Given the description of an element on the screen output the (x, y) to click on. 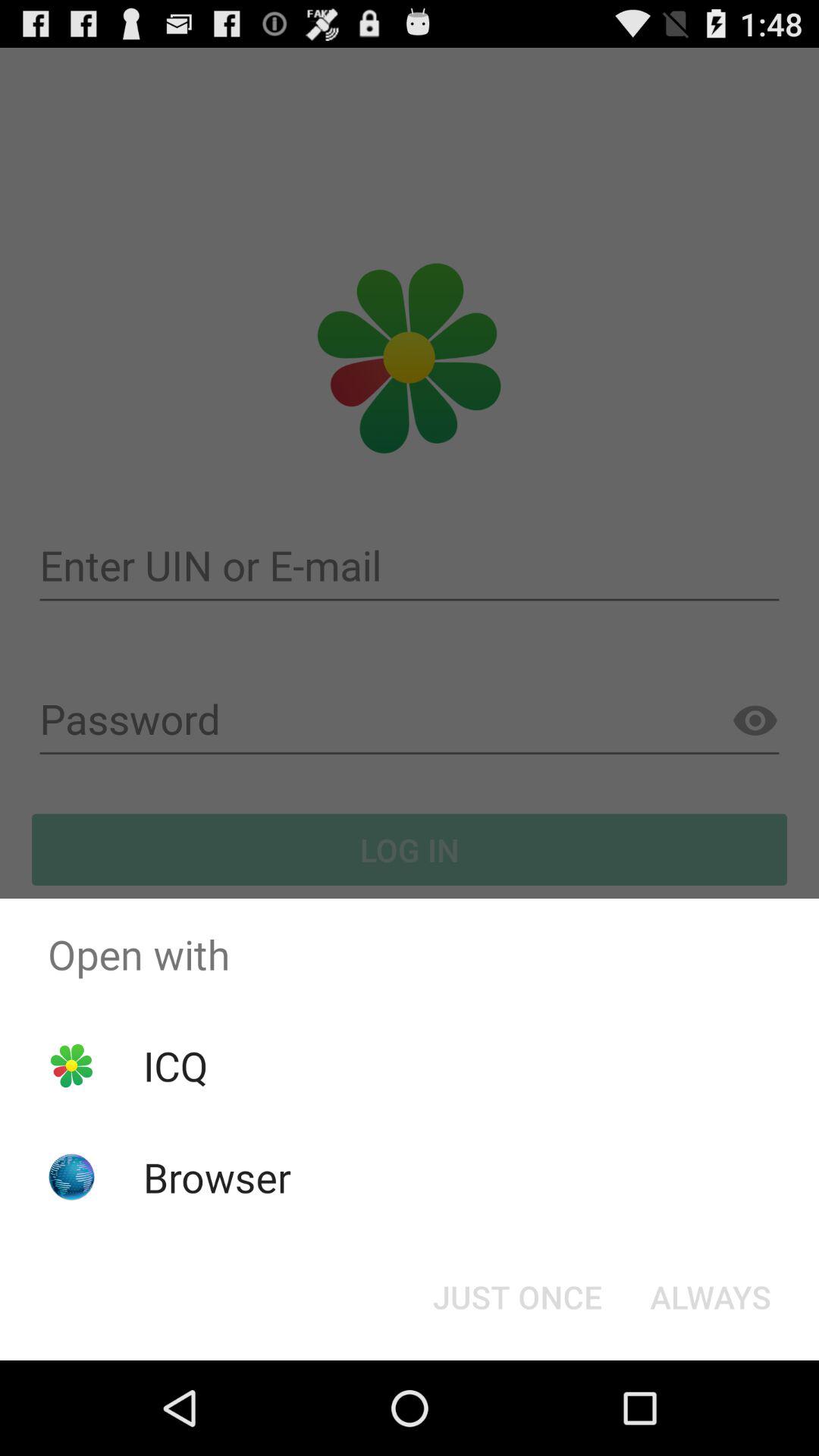
scroll until the browser item (217, 1176)
